Given the description of an element on the screen output the (x, y) to click on. 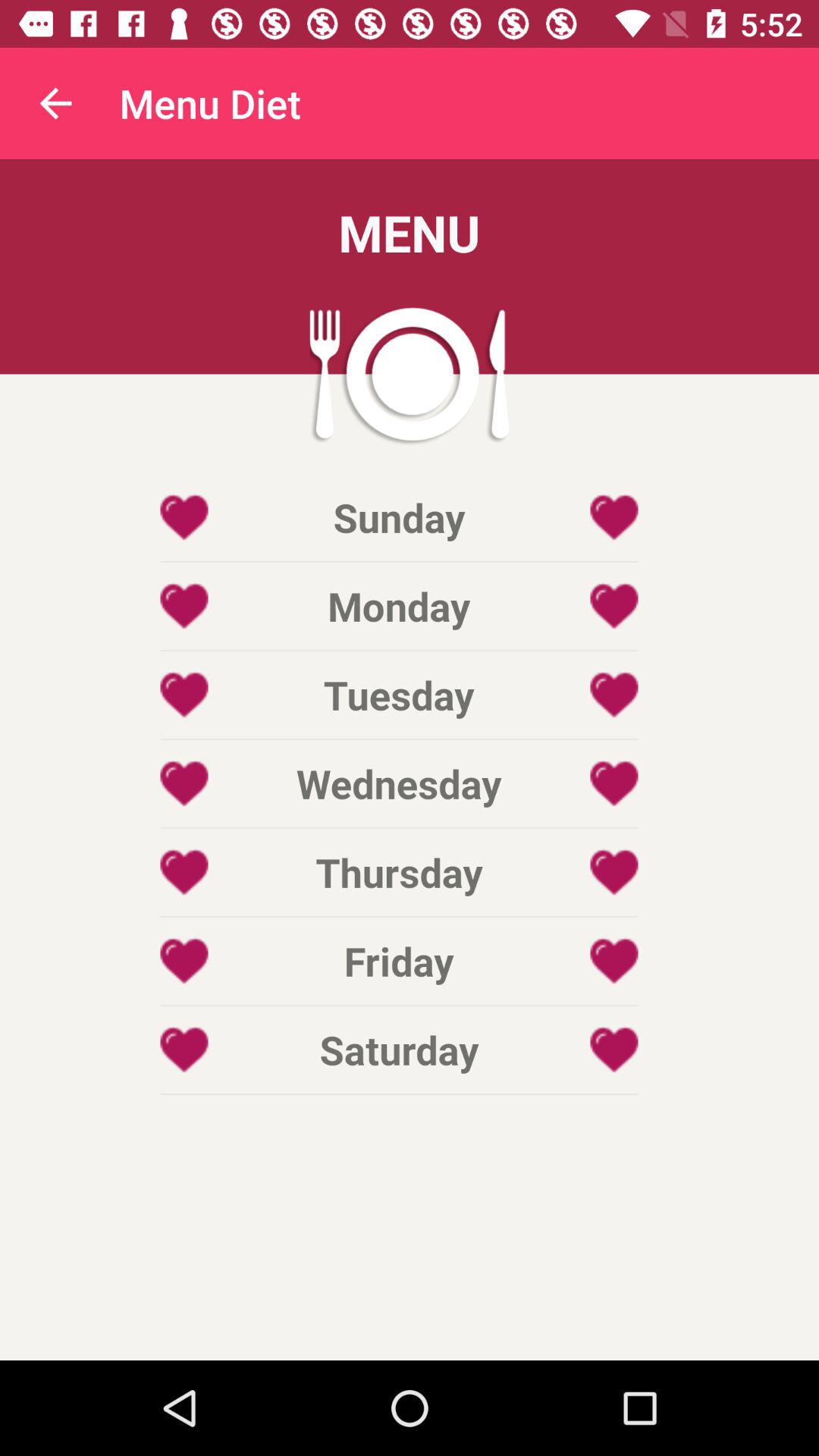
select tuesday item (398, 694)
